Given the description of an element on the screen output the (x, y) to click on. 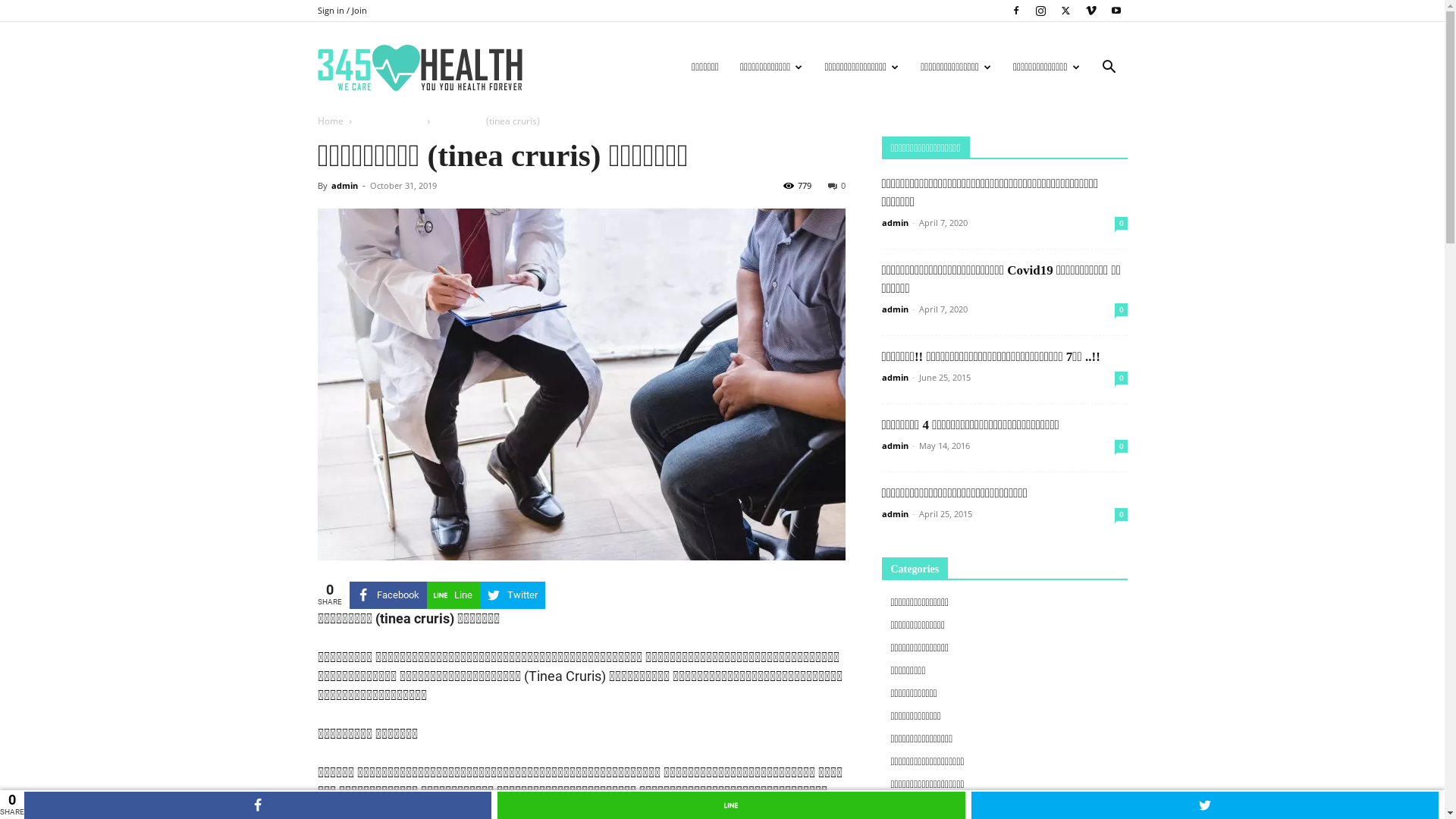
Facebook Element type: text (387, 594)
0 Element type: text (1120, 222)
Line Element type: text (452, 594)
0 Element type: text (836, 185)
0 Element type: text (1120, 309)
Twitter Element type: text (511, 594)
Youtube Element type: hover (1115, 10)
admin Element type: text (894, 308)
Search Element type: text (1085, 140)
admin Element type: text (894, 376)
Home Element type: text (329, 120)
345Health Element type: text (418, 66)
0 Element type: text (1120, 377)
admin Element type: text (894, 445)
Instagram Element type: hover (1040, 10)
HEALTH & FITNESS Element type: hover (418, 68)
Vimeo Element type: hover (1090, 10)
Facebook Element type: hover (1015, 10)
Sign in / Join Element type: text (341, 9)
0 Element type: text (1120, 445)
admin Element type: text (894, 513)
Twitter Element type: hover (1065, 10)
0 Element type: text (1120, 514)
admin Element type: text (343, 185)
admin Element type: text (894, 222)
